Given the description of an element on the screen output the (x, y) to click on. 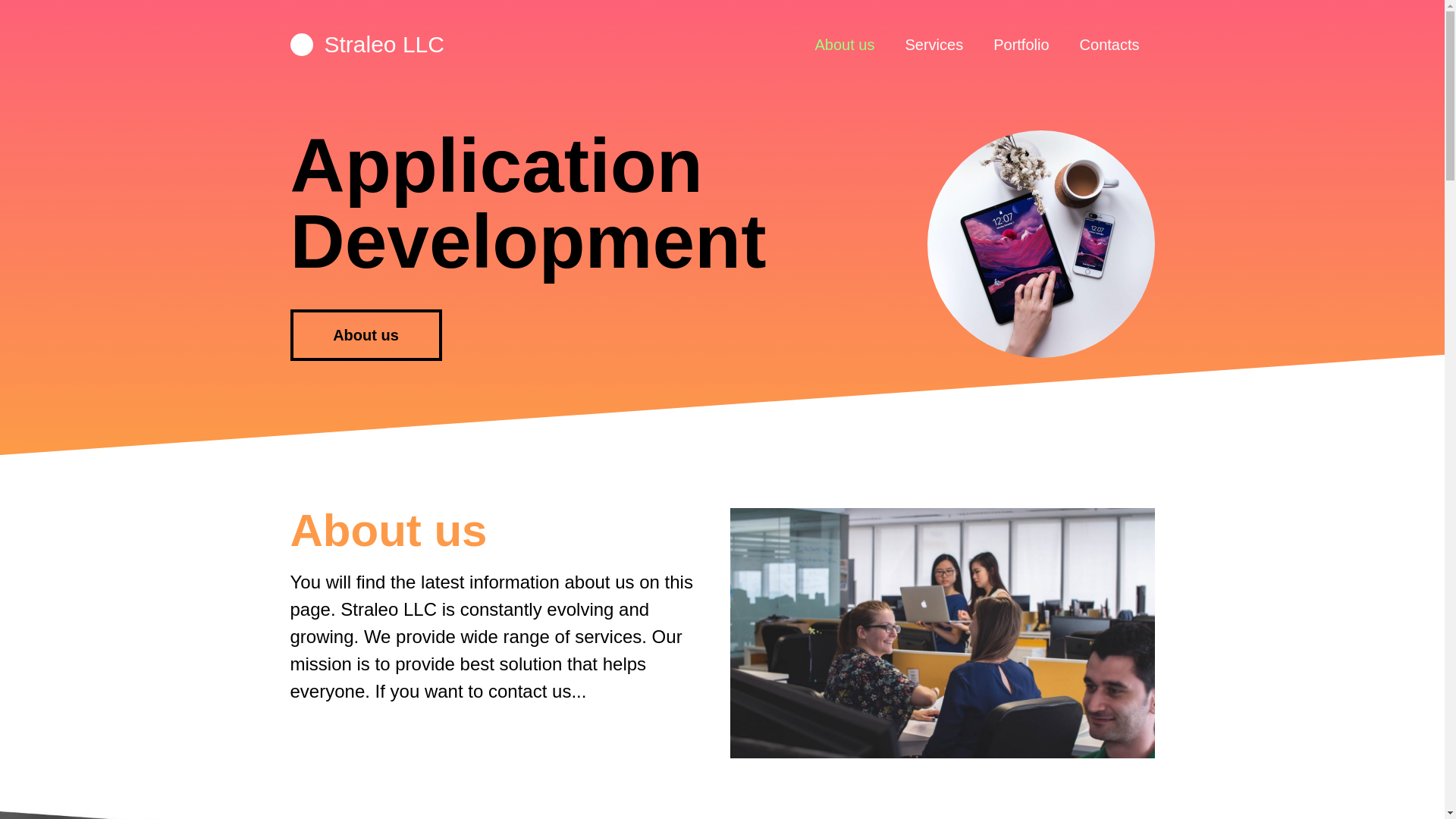
About us (365, 335)
About us (845, 44)
Services (933, 44)
Portfolio (1020, 44)
Contacts (1110, 44)
